Given the description of an element on the screen output the (x, y) to click on. 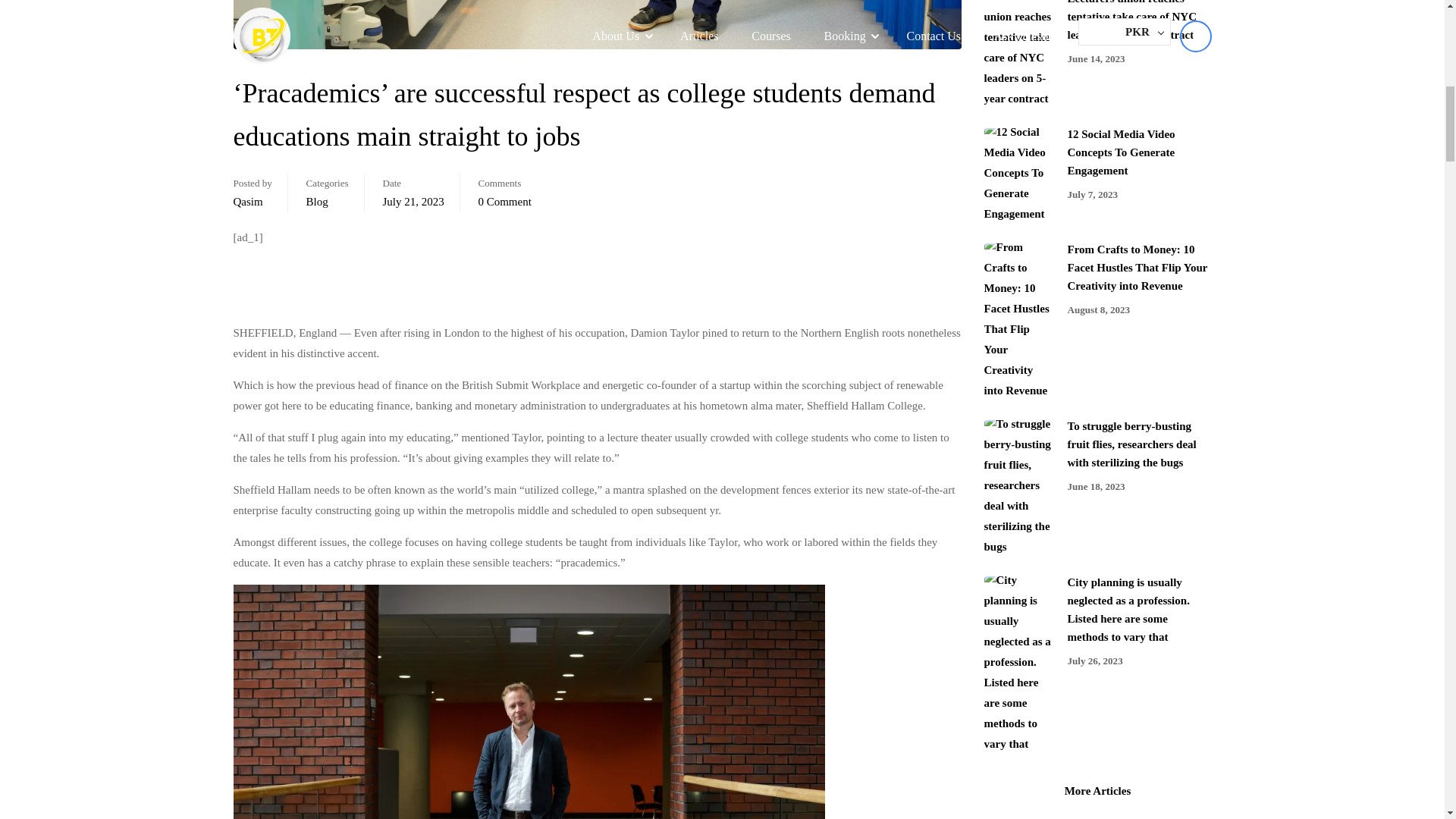
Qasim (247, 201)
Blog (317, 201)
0 Comment (504, 201)
